Given the description of an element on the screen output the (x, y) to click on. 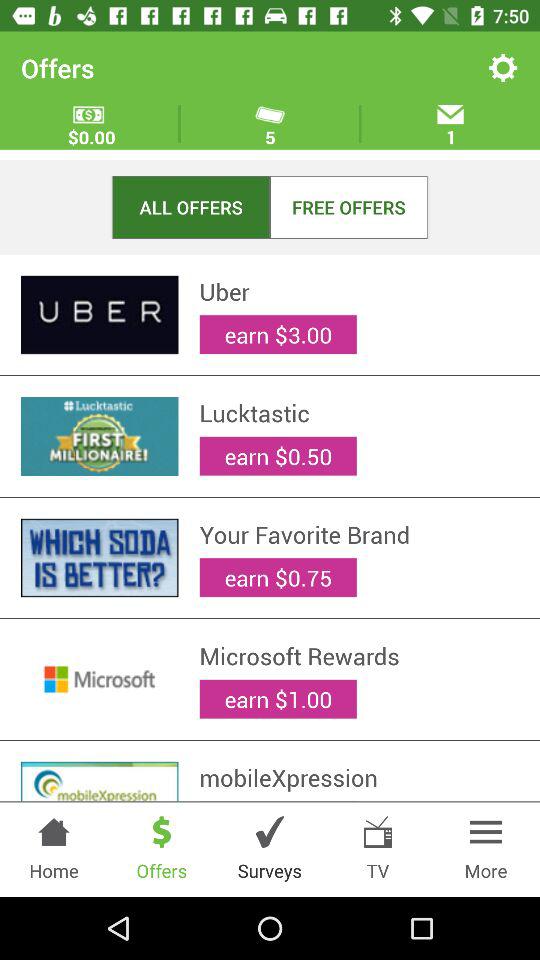
choose icon below earn $3.00 item (359, 413)
